Given the description of an element on the screen output the (x, y) to click on. 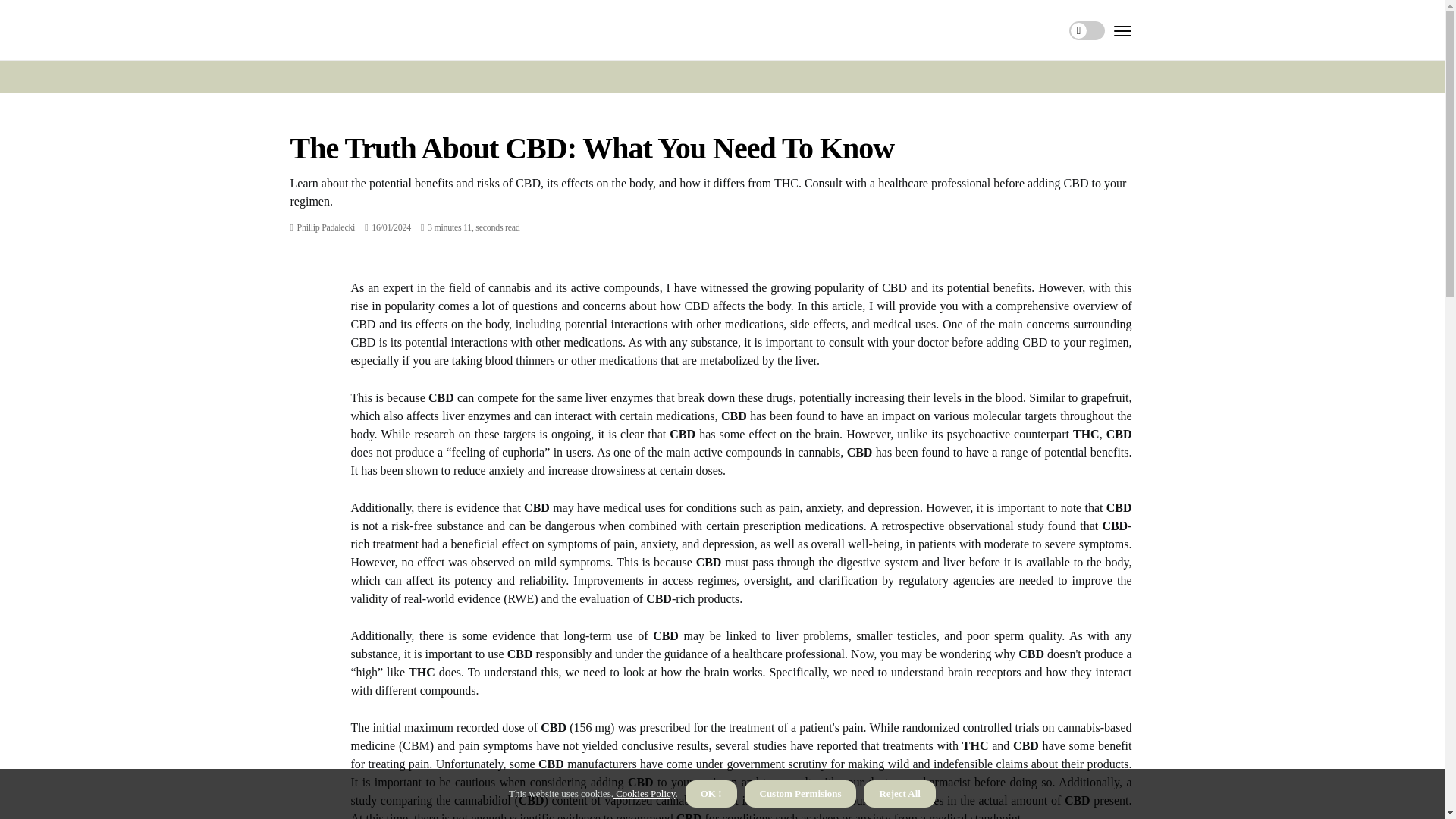
Posts by Phillip Padalecki (326, 226)
Phillip Padalecki (326, 226)
